Given the description of an element on the screen output the (x, y) to click on. 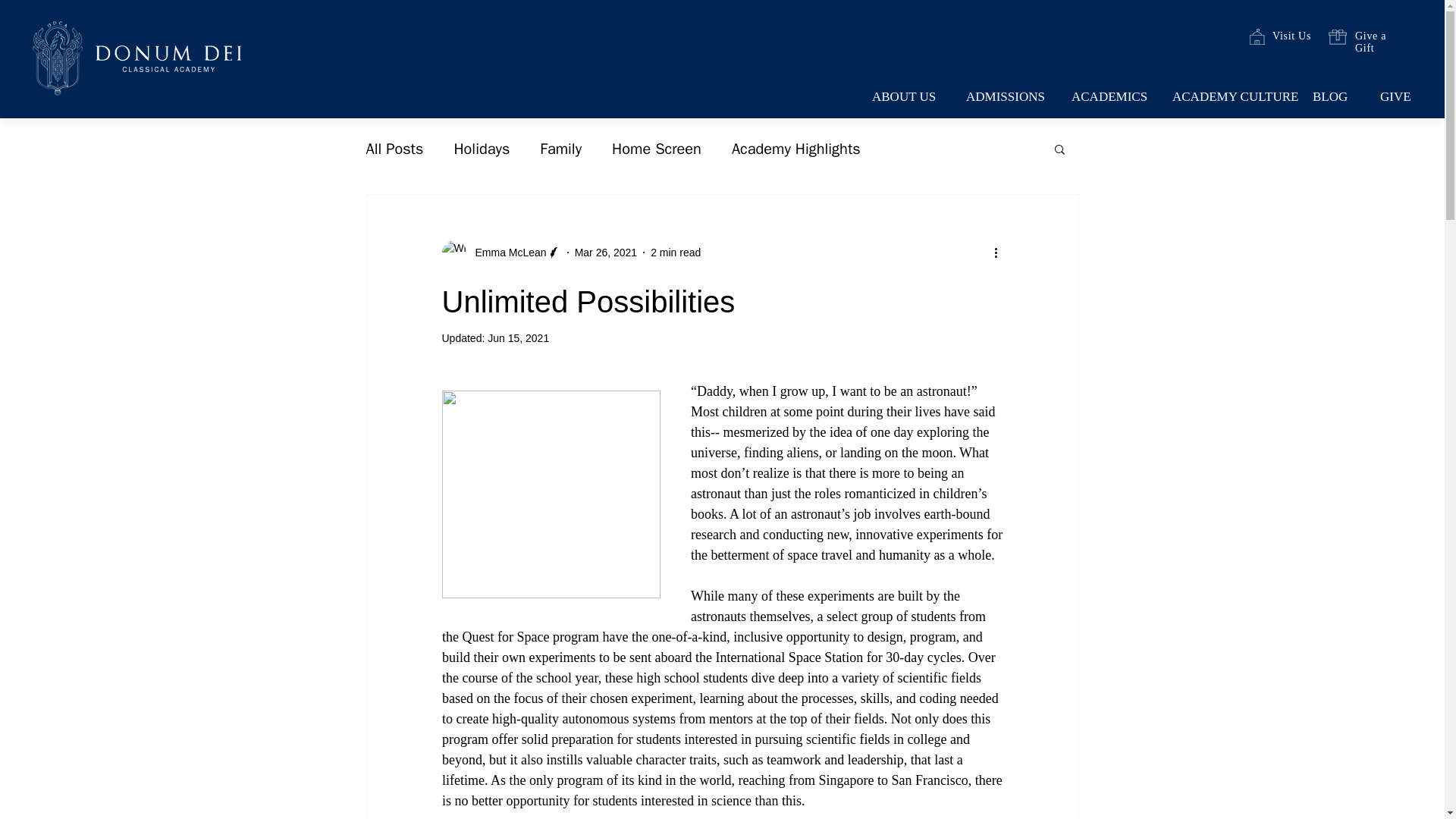
All Posts (394, 148)
Home Screen (656, 148)
Academy Highlights (796, 148)
Jun 15, 2021 (517, 337)
BLOG (1334, 96)
Emma McLean (500, 252)
Give a Gift (1370, 42)
GIVE (1398, 96)
Mar 26, 2021 (606, 251)
2 min read (675, 251)
Holidays (480, 148)
Visit Us (1291, 35)
Family (560, 148)
Emma McLean (505, 252)
